Given the description of an element on the screen output the (x, y) to click on. 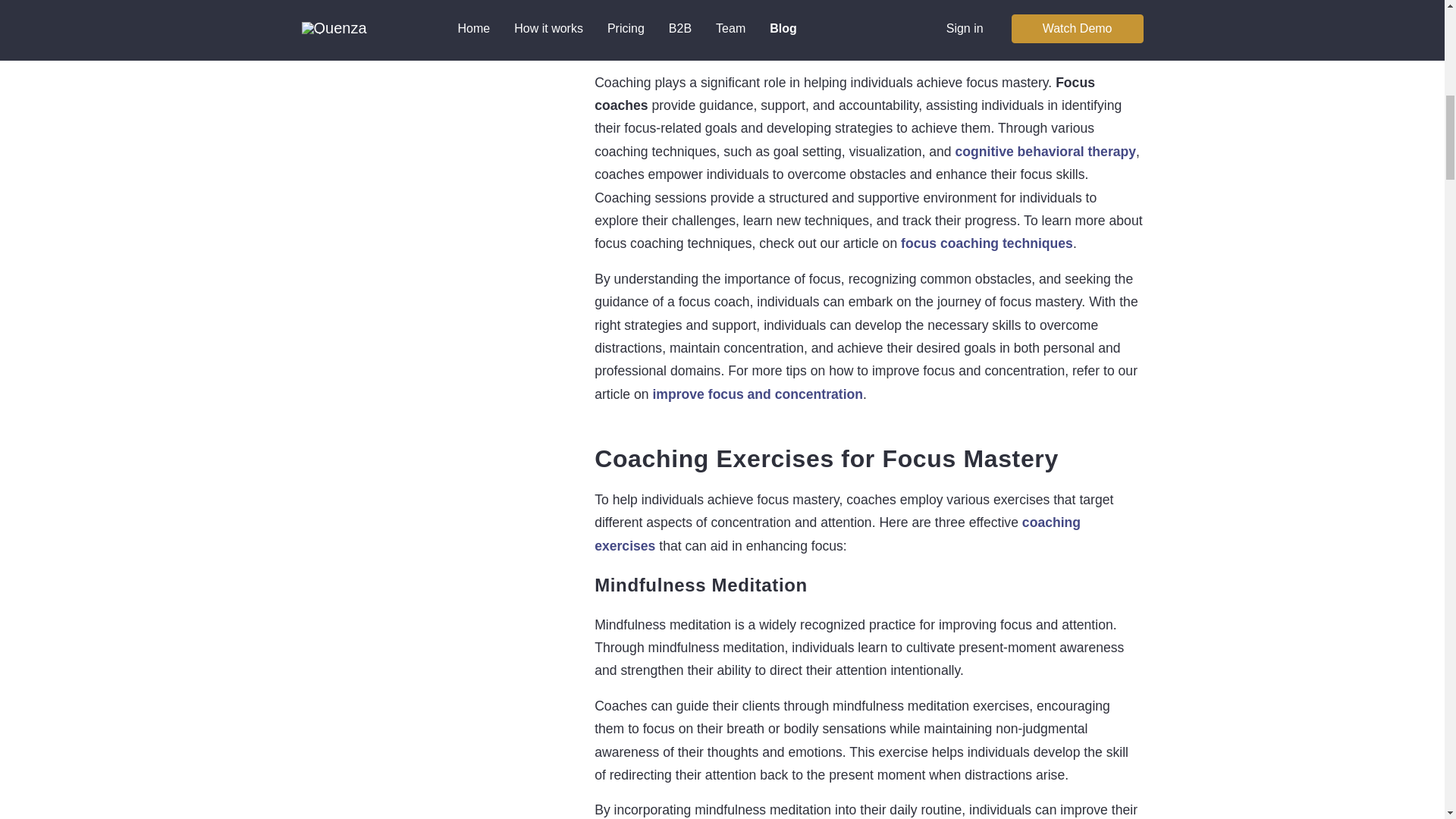
improve focus and concentration (757, 394)
coaching exercises (837, 533)
cognitive behavioral therapy (1046, 151)
focus coaching techniques (987, 242)
coaching exercises (837, 533)
cognitive behavioral therapy (1046, 151)
